Given the description of an element on the screen output the (x, y) to click on. 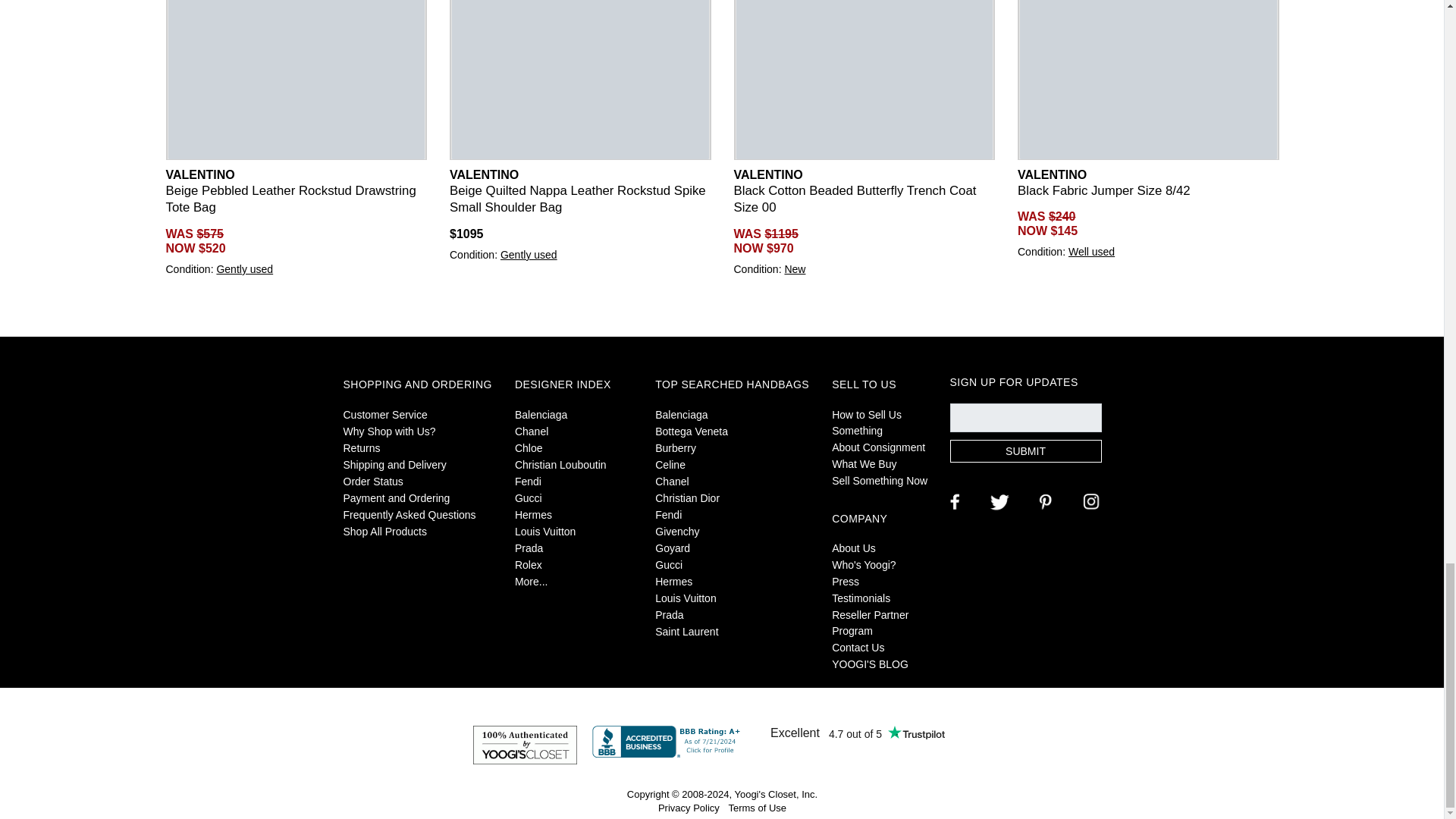
Follow us on Facebook (952, 500)
Follow us on Twitter (998, 500)
Follow us on Pinterest (1043, 500)
 Black Cotton Beaded Butterfly Trench Coat Size 00 (863, 80)
Follow us on Instagram (1089, 500)
 Beige Pebbled Leather Rockstud Drawstring Tote Bag (296, 80)
Customer reviews powered by Trustpilot (857, 733)
Guaranteed Authentic by Yoogi''s Closet (524, 744)
